Given the description of an element on the screen output the (x, y) to click on. 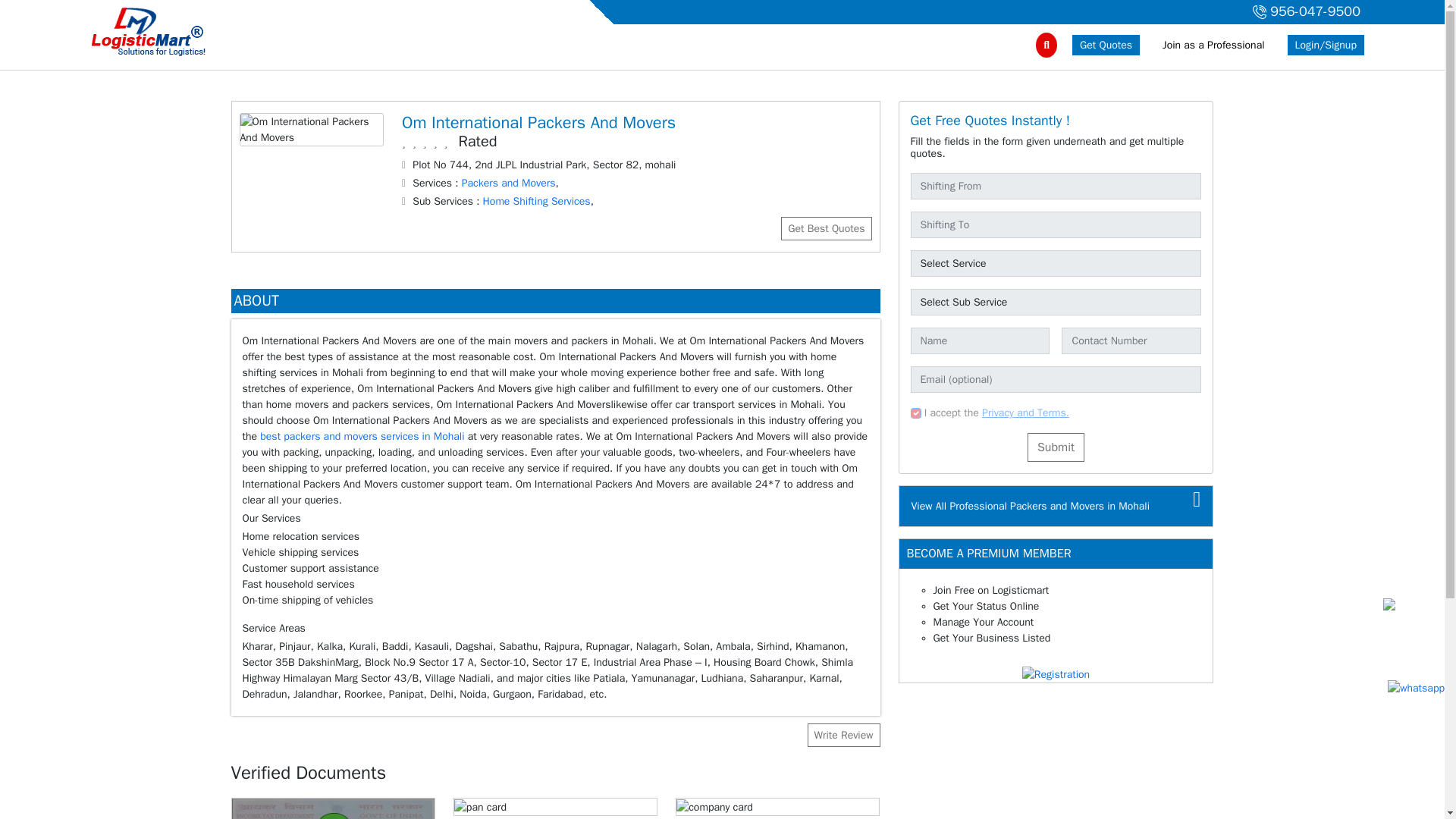
on (915, 412)
Privacy and Terms. (1024, 412)
Write Review (842, 734)
best packers and movers services in Mohali (363, 436)
Join as a Professional (1212, 45)
956-047-9500 (1304, 11)
View All Professional Packers and Movers in Mohali (1030, 505)
Get Quotes (1105, 45)
Packers and Movers (508, 182)
Get Best Quotes (825, 228)
Home Shifting Services (537, 201)
Submit (1055, 447)
